Given the description of an element on the screen output the (x, y) to click on. 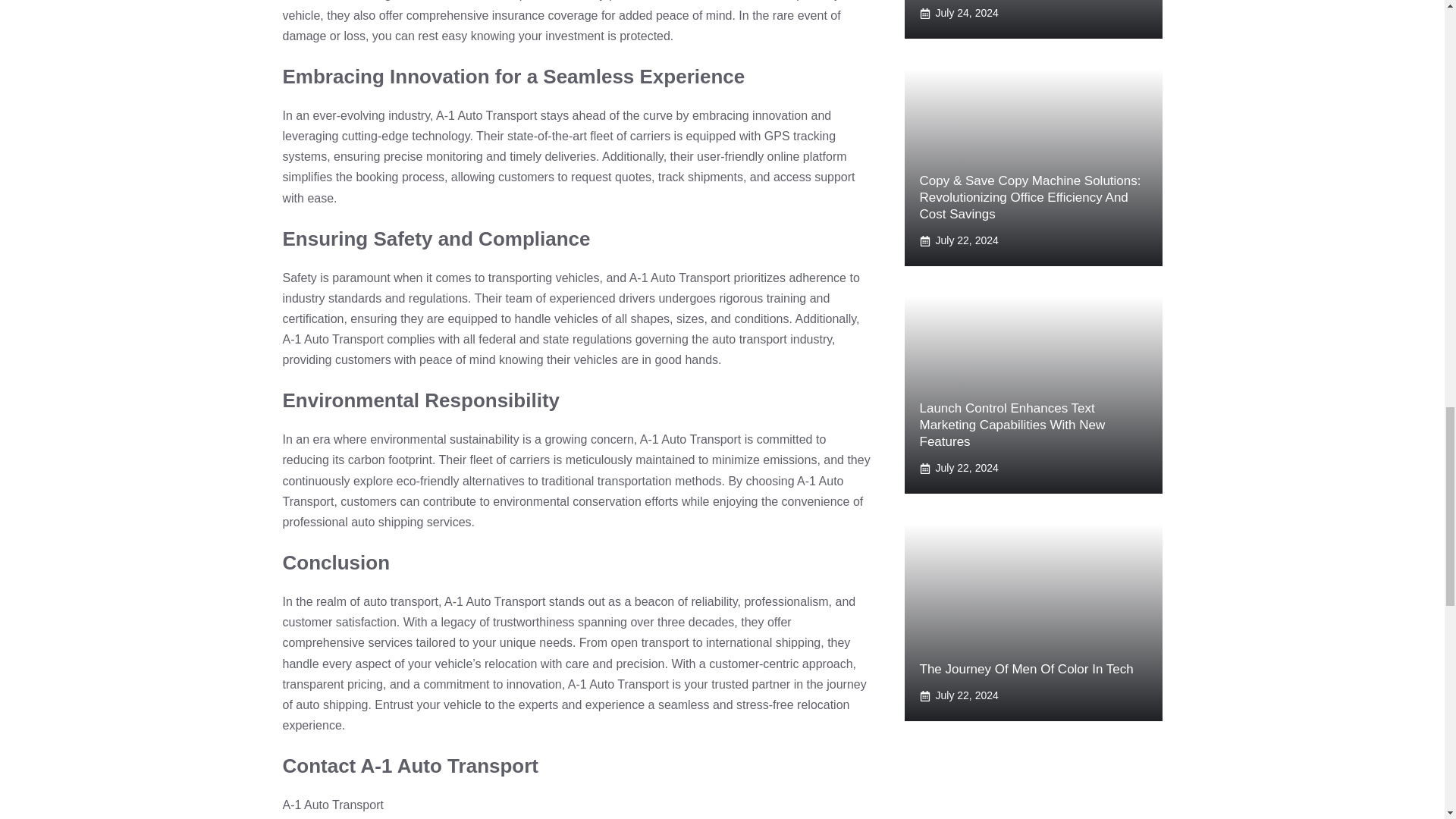
The Journey Of Men Of Color In Tech (1025, 668)
